Given the description of an element on the screen output the (x, y) to click on. 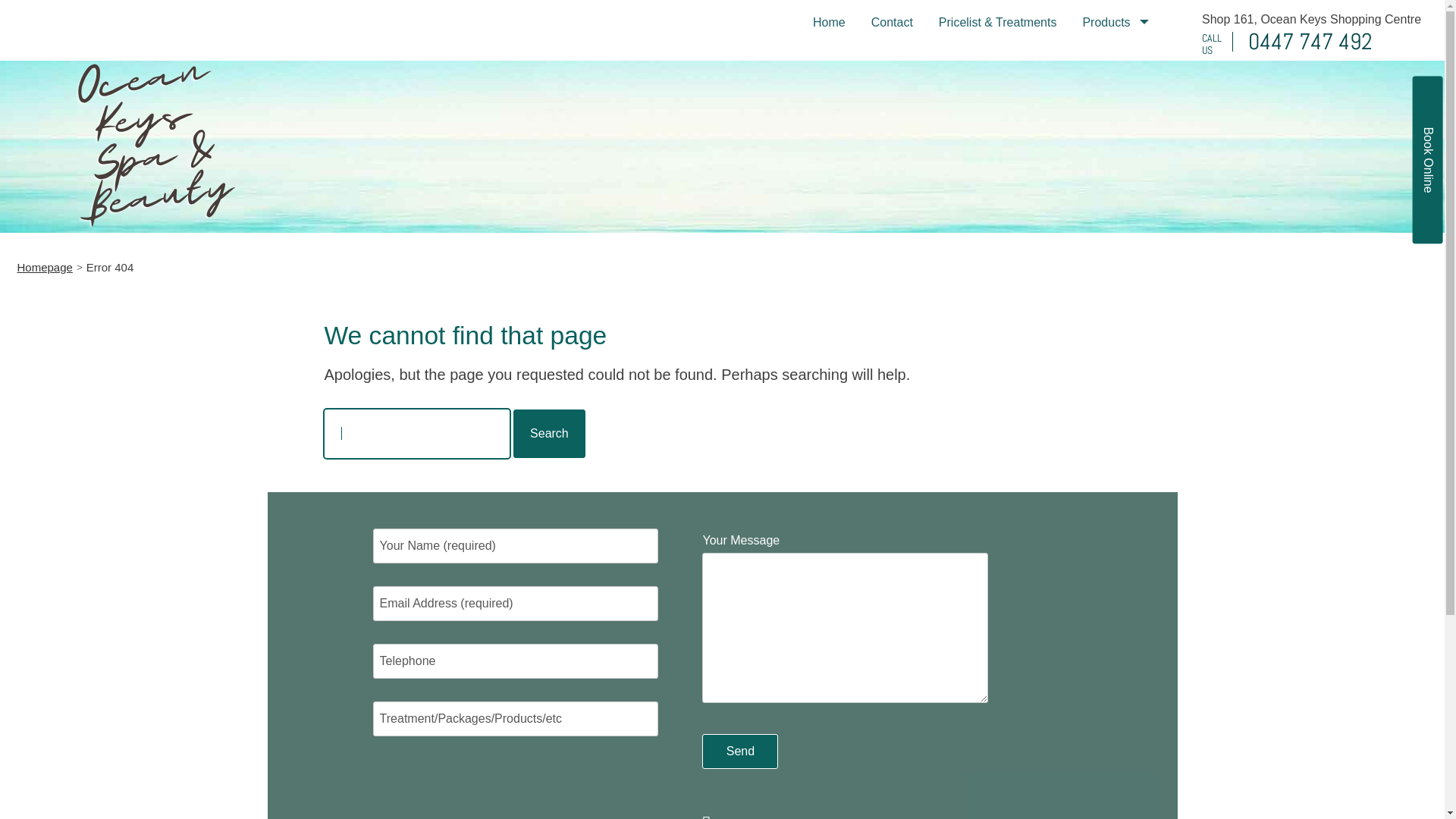
Search Element type: text (549, 433)
Contact Element type: text (891, 21)
Home Element type: text (829, 21)
Send Element type: text (740, 751)
Homepage Element type: text (44, 266)
Pricelist & Treatments Element type: text (997, 21)
Products Element type: text (1115, 21)
